Given the description of an element on the screen output the (x, y) to click on. 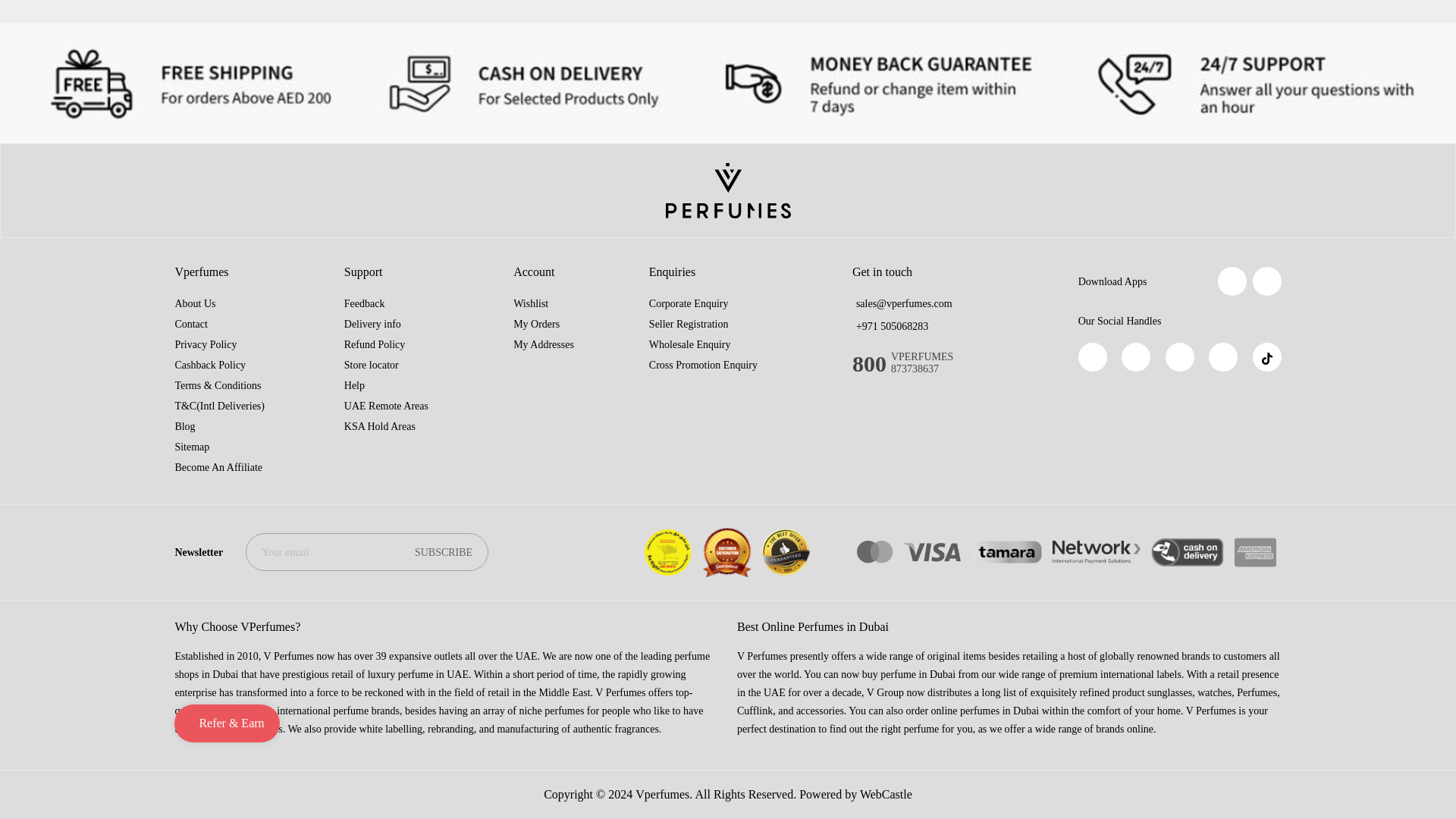
Seller Registration (689, 324)
Folow us on Tiktok (1266, 357)
Cashback Policy (210, 365)
Store locator (370, 365)
Feedback (364, 303)
Wholesale Enquiry (689, 344)
My Addresses (543, 344)
KSA Hold Areas (378, 426)
Powered by WebCastle (855, 794)
Folow us on Facebook (1092, 357)
Folow us on Whatsapp (1135, 357)
UAE Remote Areas (385, 405)
About Us (194, 303)
Become An Affiliate (218, 467)
Contact (191, 324)
